Given the description of an element on the screen output the (x, y) to click on. 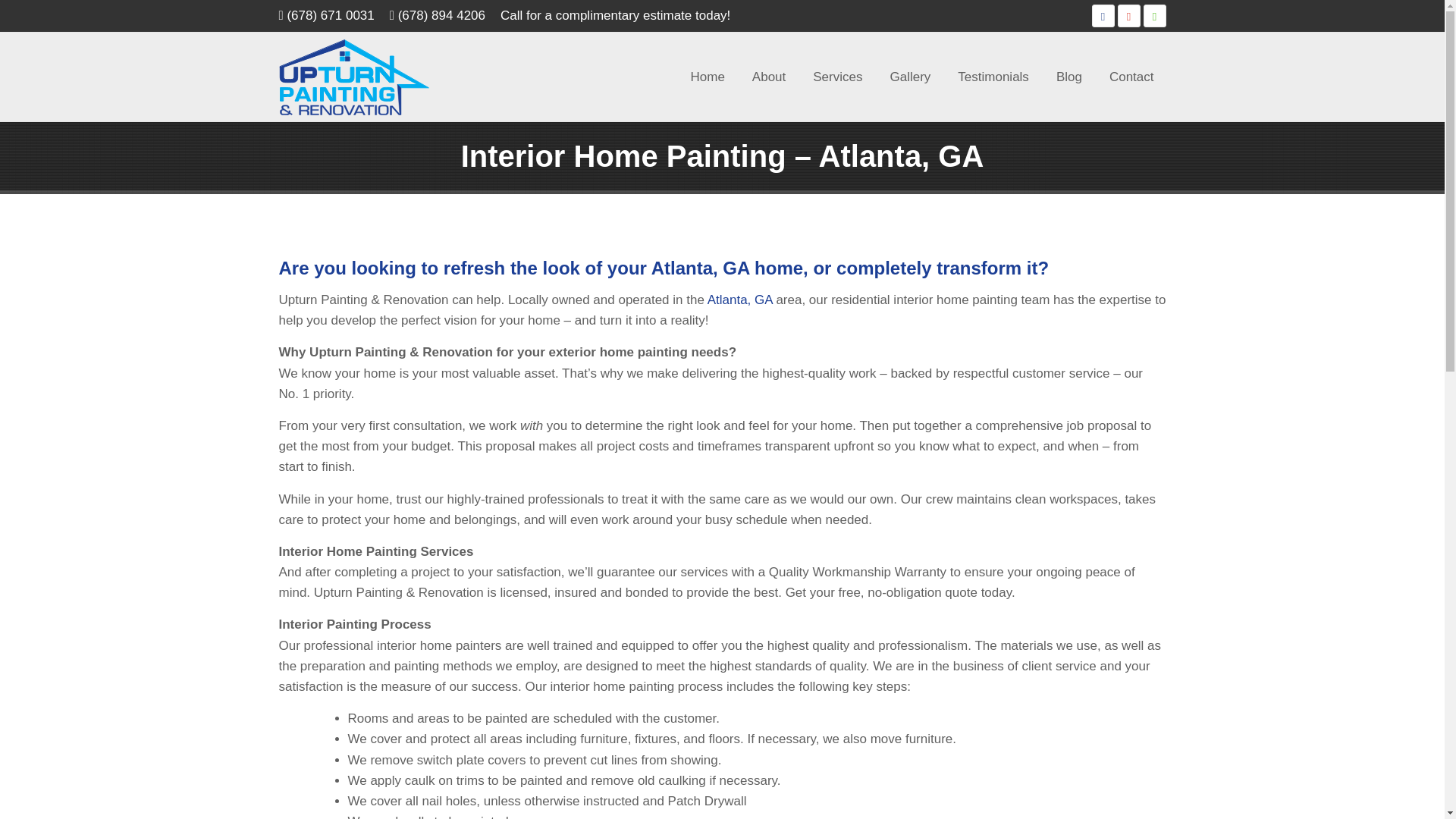
Home (706, 76)
Testimonials (993, 76)
Blog (1069, 76)
houzz (1154, 15)
About (768, 76)
Services (837, 76)
Gallery (909, 76)
Atlanta, GA (740, 299)
Contact (1131, 76)
google (1129, 15)
